Given the description of an element on the screen output the (x, y) to click on. 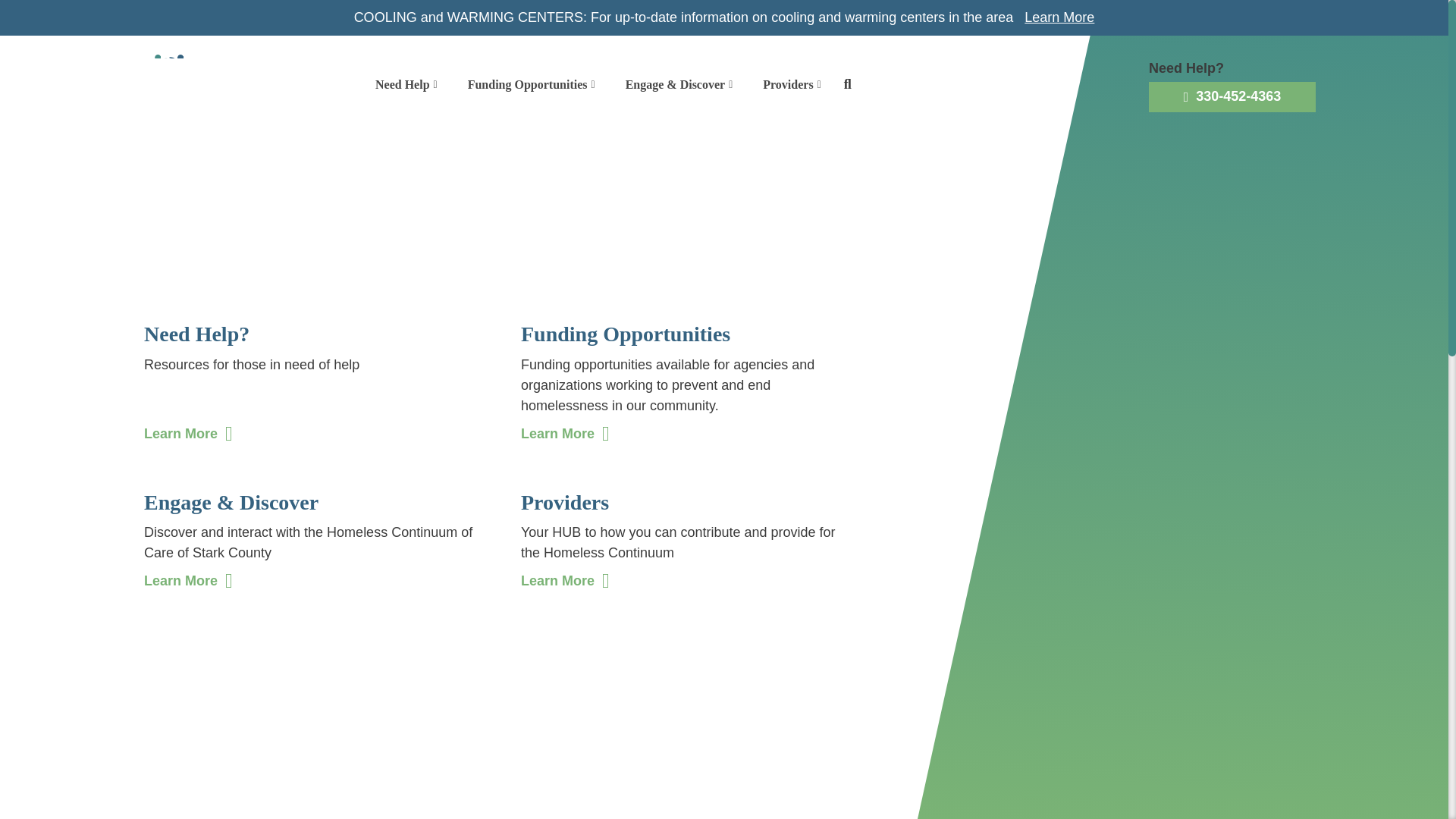
Learn More (1059, 17)
Providers (791, 85)
Need Help (406, 85)
Funding Opportunities (531, 85)
330-452-4363 (1232, 96)
